Given the description of an element on the screen output the (x, y) to click on. 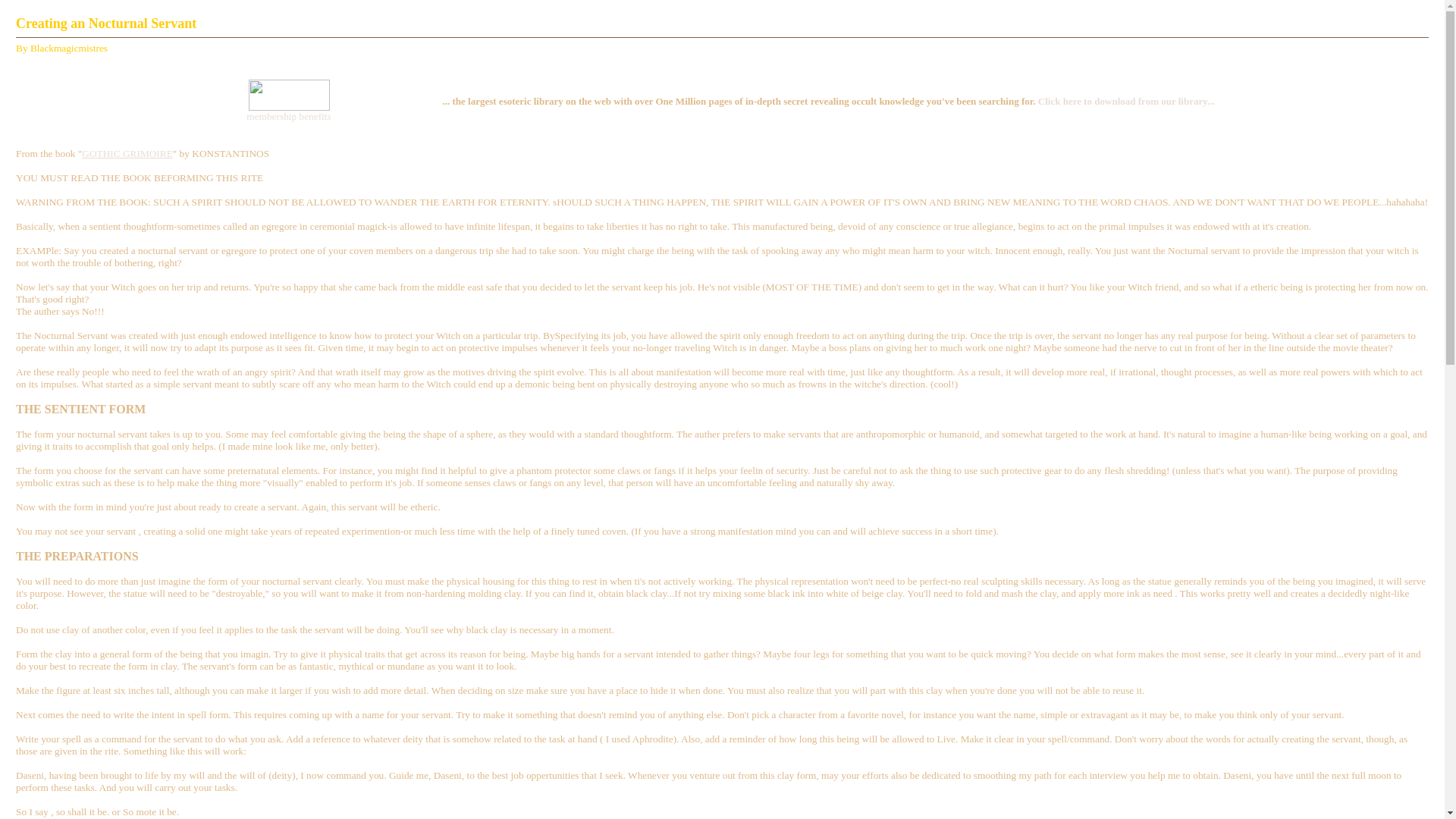
Purchase Sacred Magick Membership (289, 107)
GOTHIC GRIMOIRE (127, 153)
Click here to download from our library... (1124, 101)
membership benefits (288, 116)
